Given the description of an element on the screen output the (x, y) to click on. 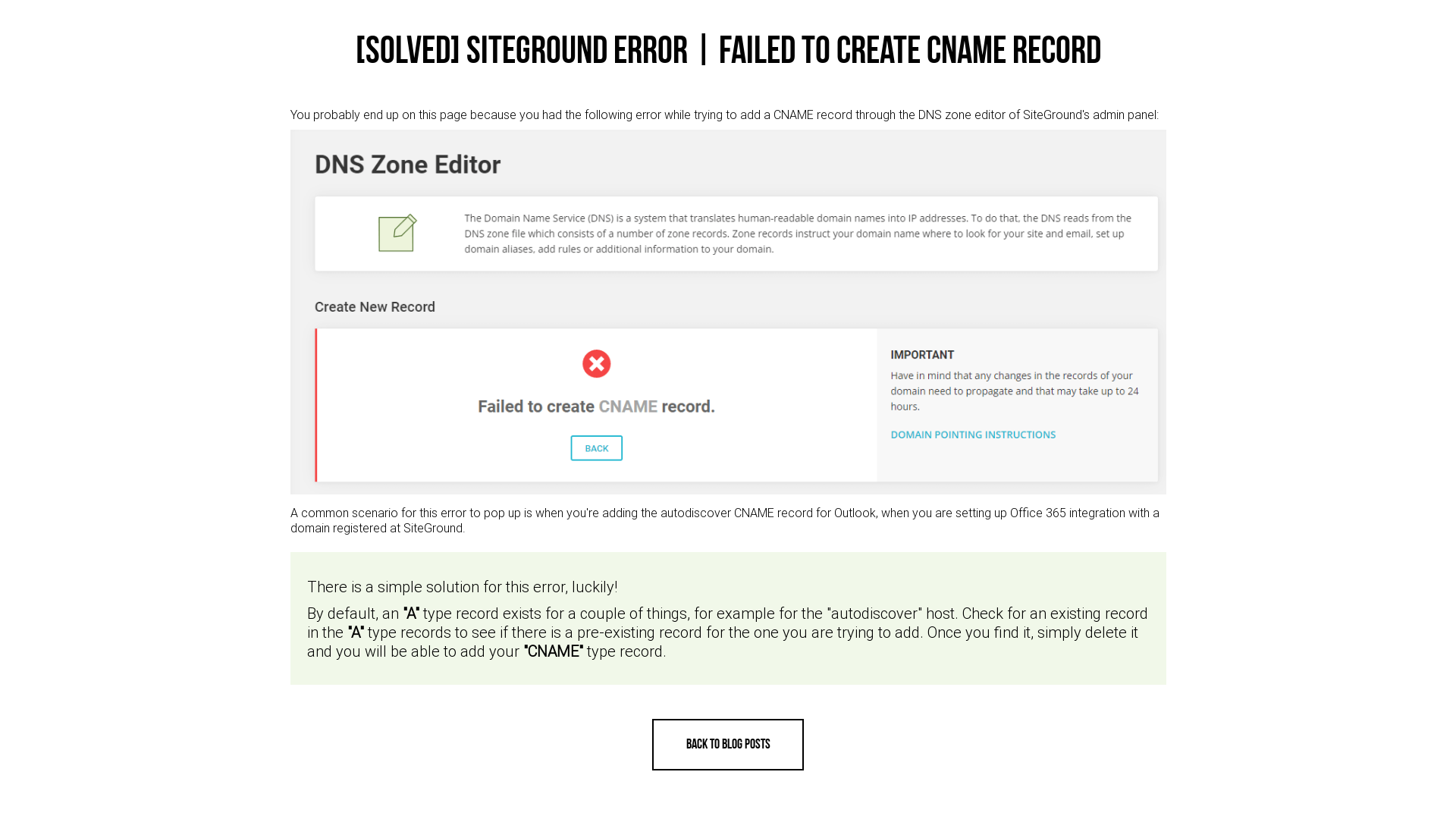
Back to blog posts Element type: text (727, 744)
